Given the description of an element on the screen output the (x, y) to click on. 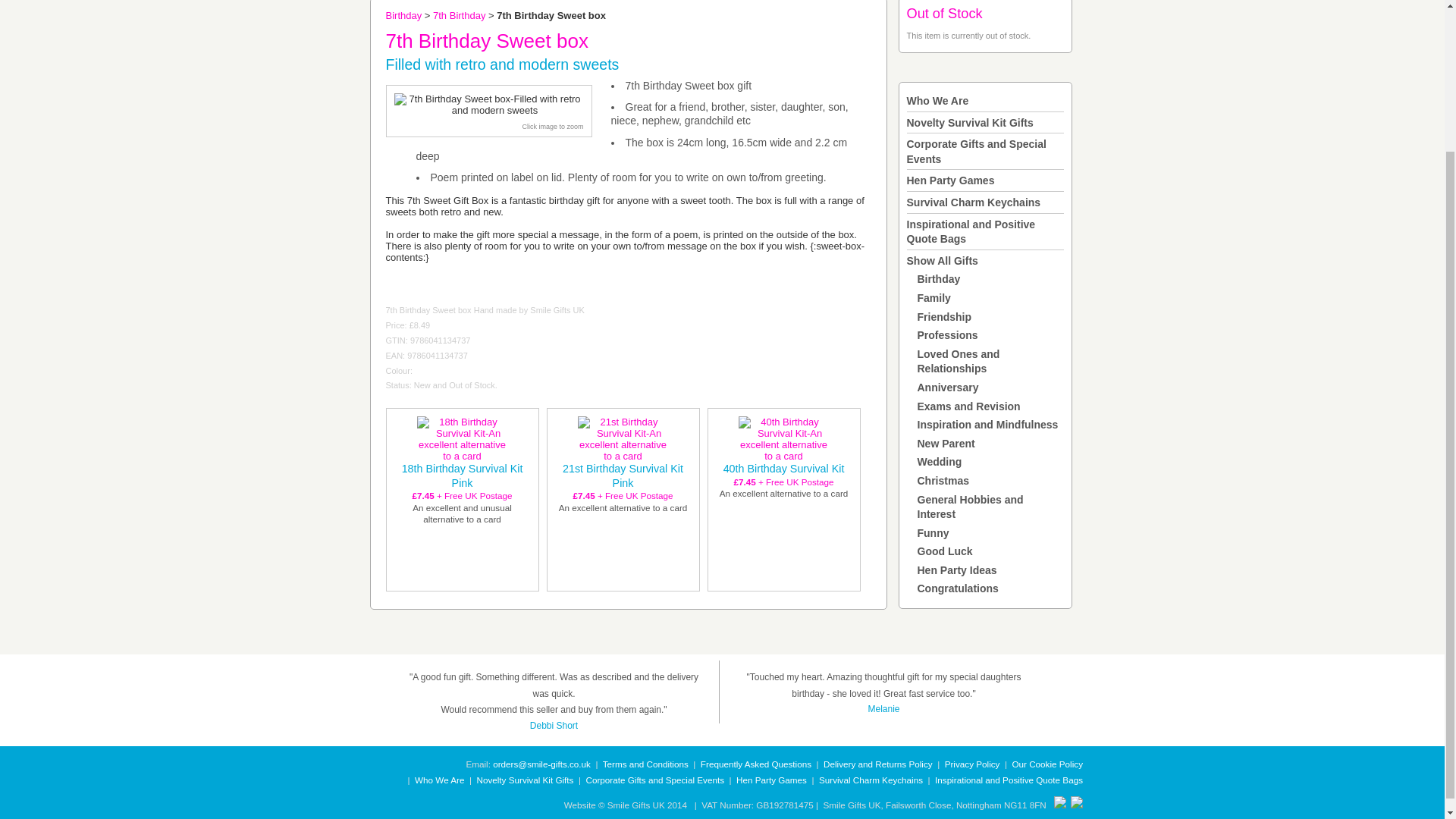
Click image to zoom (552, 126)
7th Birthday (458, 15)
Birthday (403, 15)
Corporate Gifts and Special Events (976, 151)
Survival Charm Keychains (974, 202)
Novelty Survival Kit Gifts (970, 122)
Show All Gifts (942, 260)
Hen Party Games (950, 180)
Who We Are (938, 101)
Inspirational and Positive Quote Bags (971, 231)
